Given the description of an element on the screen output the (x, y) to click on. 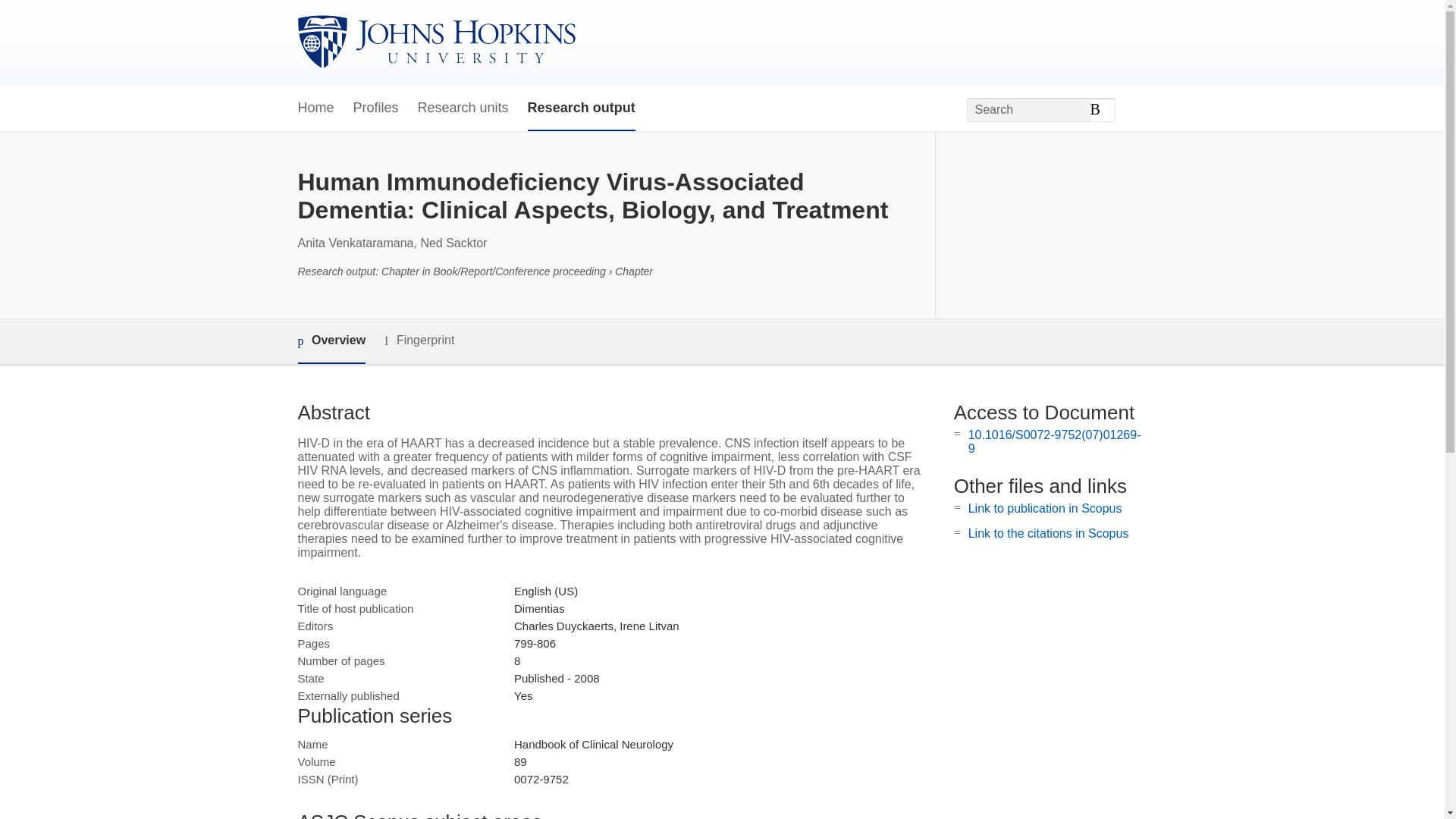
Profiles (375, 108)
Research units (462, 108)
Link to publication in Scopus (1045, 508)
Link to the citations in Scopus (1048, 533)
Research output (580, 108)
Overview (331, 341)
Fingerprint (419, 340)
Johns Hopkins University Home (436, 43)
